Given the description of an element on the screen output the (x, y) to click on. 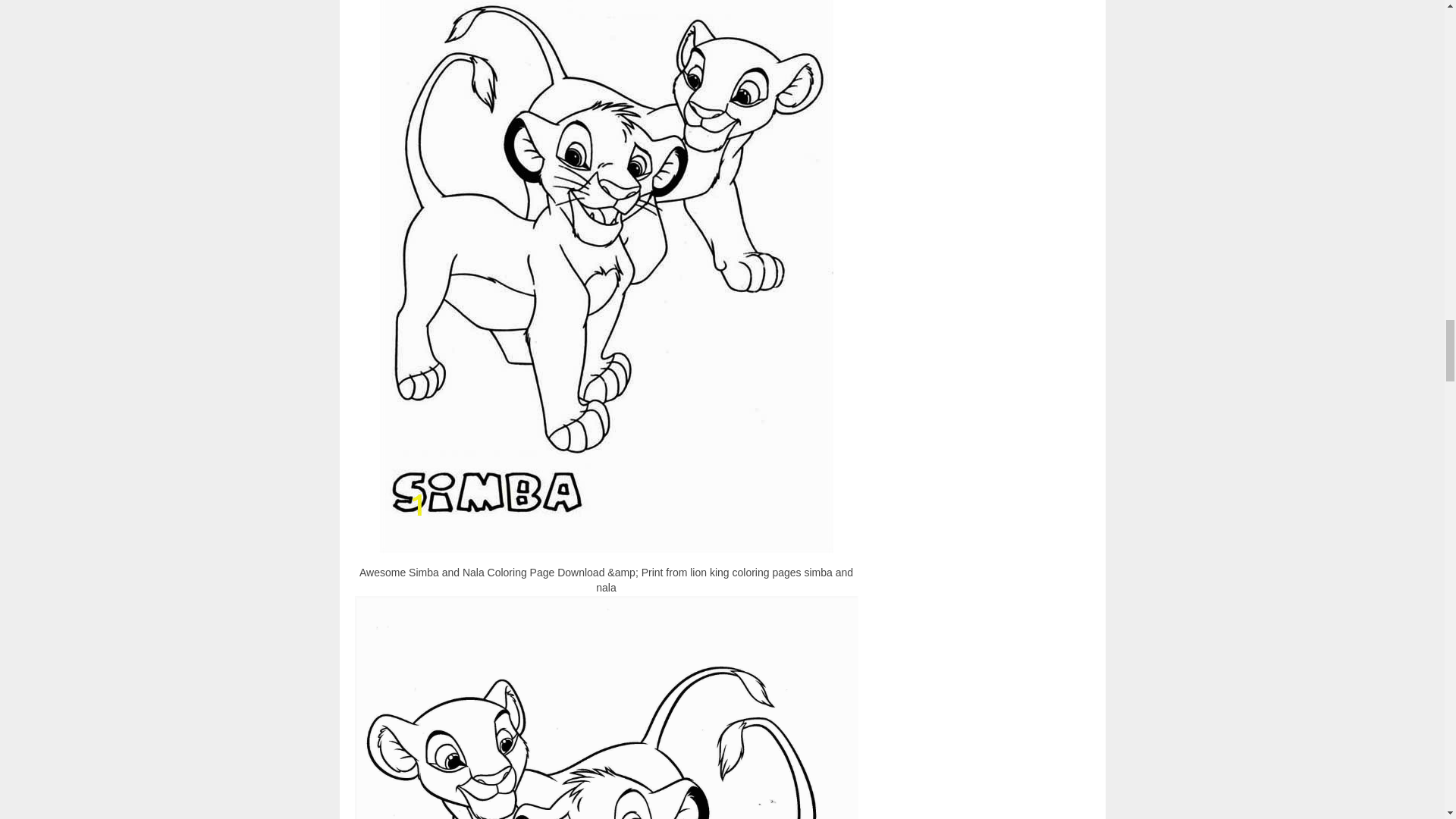
Simba And Nala Drawing at PaintingValley (607, 707)
